Given the description of an element on the screen output the (x, y) to click on. 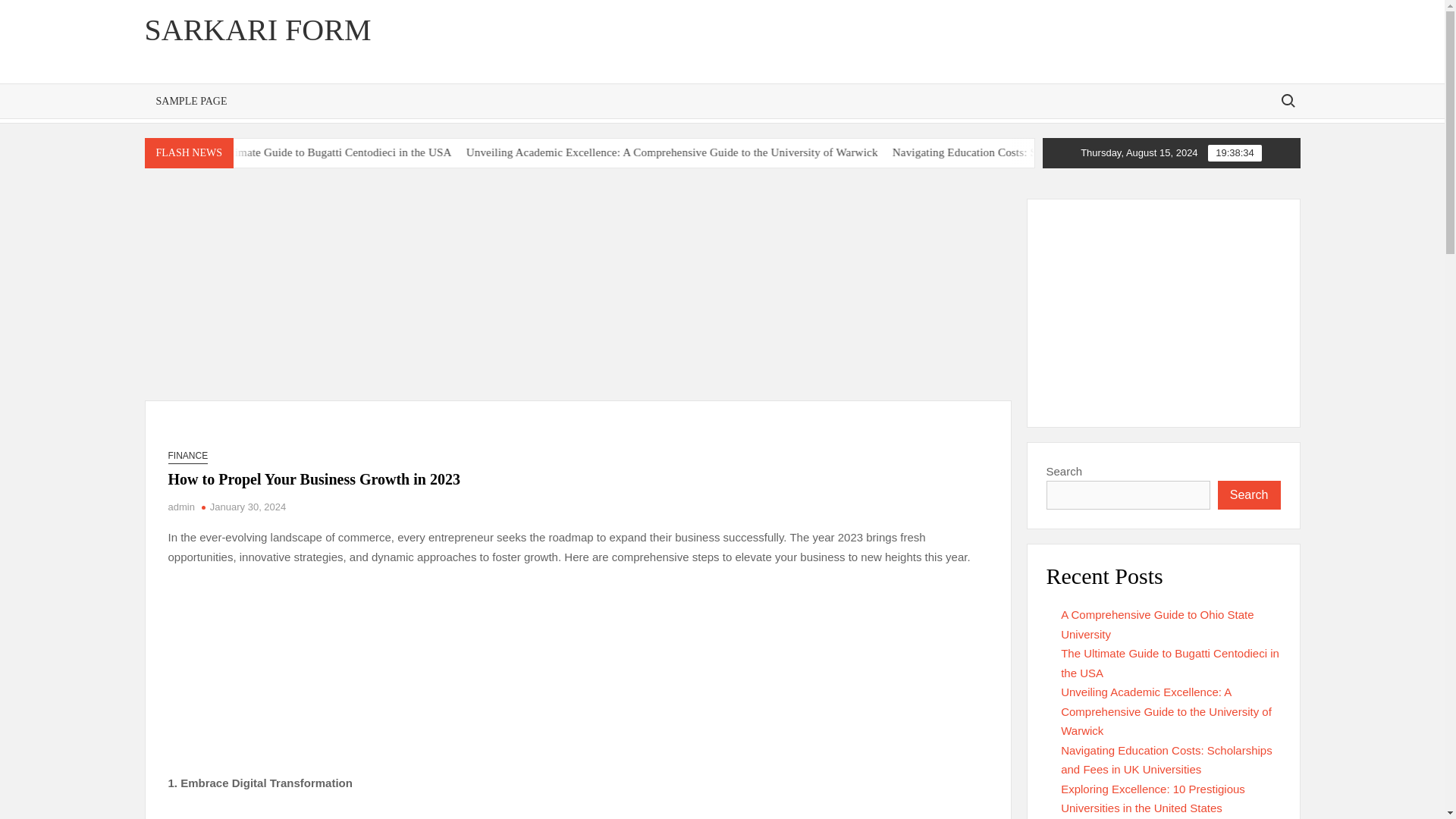
Search for: (1287, 100)
The Ultimate Guide to Bugatti Centodieci in the USA (552, 152)
SAMPLE PAGE (191, 100)
A Comprehensive Guide to Ohio State University (264, 152)
The Ultimate Guide to Bugatti Centodieci in the USA (317, 151)
The Ultimate Guide to Bugatti Centodieci in the USA (459, 152)
A Comprehensive Guide to Ohio State University (172, 152)
